Given the description of an element on the screen output the (x, y) to click on. 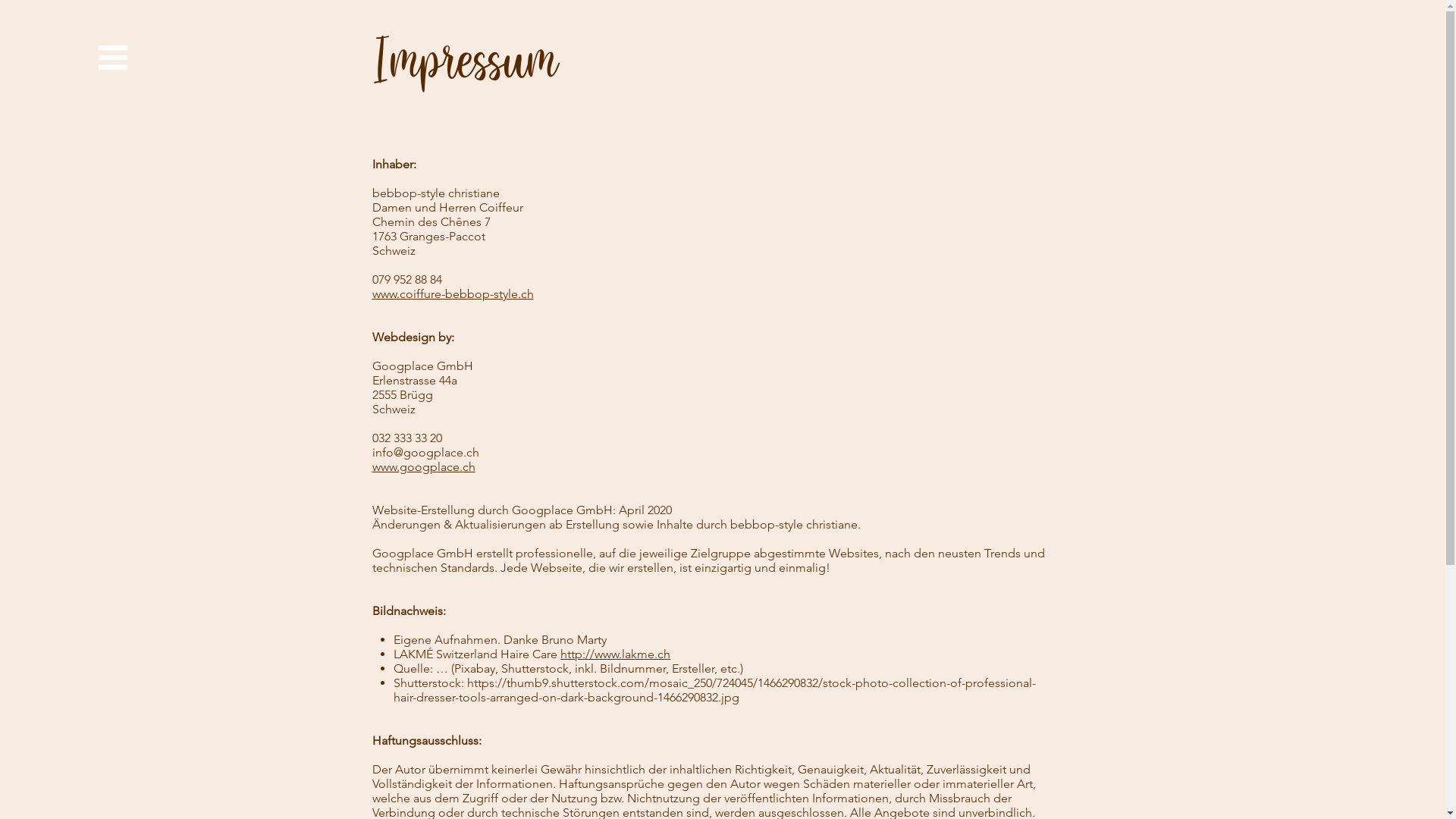
www.googplace.ch Element type: text (422, 466)
www.coiffure-bebbop-style.ch Element type: text (452, 293)
032 333 33 20 Element type: text (406, 437)
info@googplace.ch Element type: text (424, 452)
Googplace GmbH Element type: text (421, 365)
079 952 88 84 Element type: text (406, 279)
bebbop-style christiane Element type: text (434, 192)
http://www.lakme.ch Element type: text (615, 653)
